Given the description of an element on the screen output the (x, y) to click on. 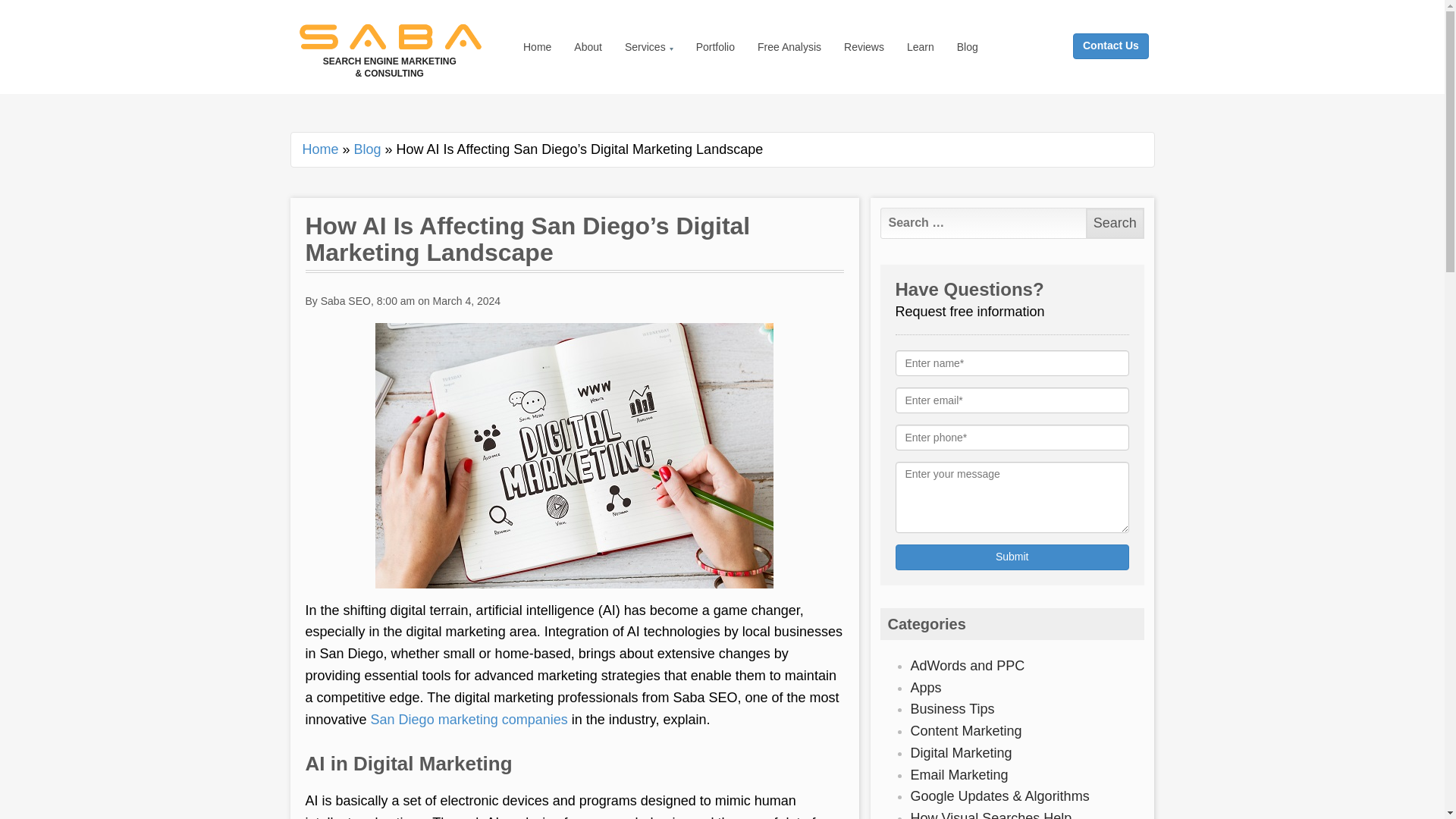
About (587, 46)
Reviews (863, 46)
Home (319, 149)
Blog (367, 149)
Search (1115, 223)
Services (642, 46)
Contact Us (1110, 45)
Contact Us (1125, 28)
Free Analysis (788, 46)
Learn (919, 46)
Portfolio (714, 46)
Search (1115, 223)
Search (1115, 223)
San Diego marketing companies (469, 719)
